Given the description of an element on the screen output the (x, y) to click on. 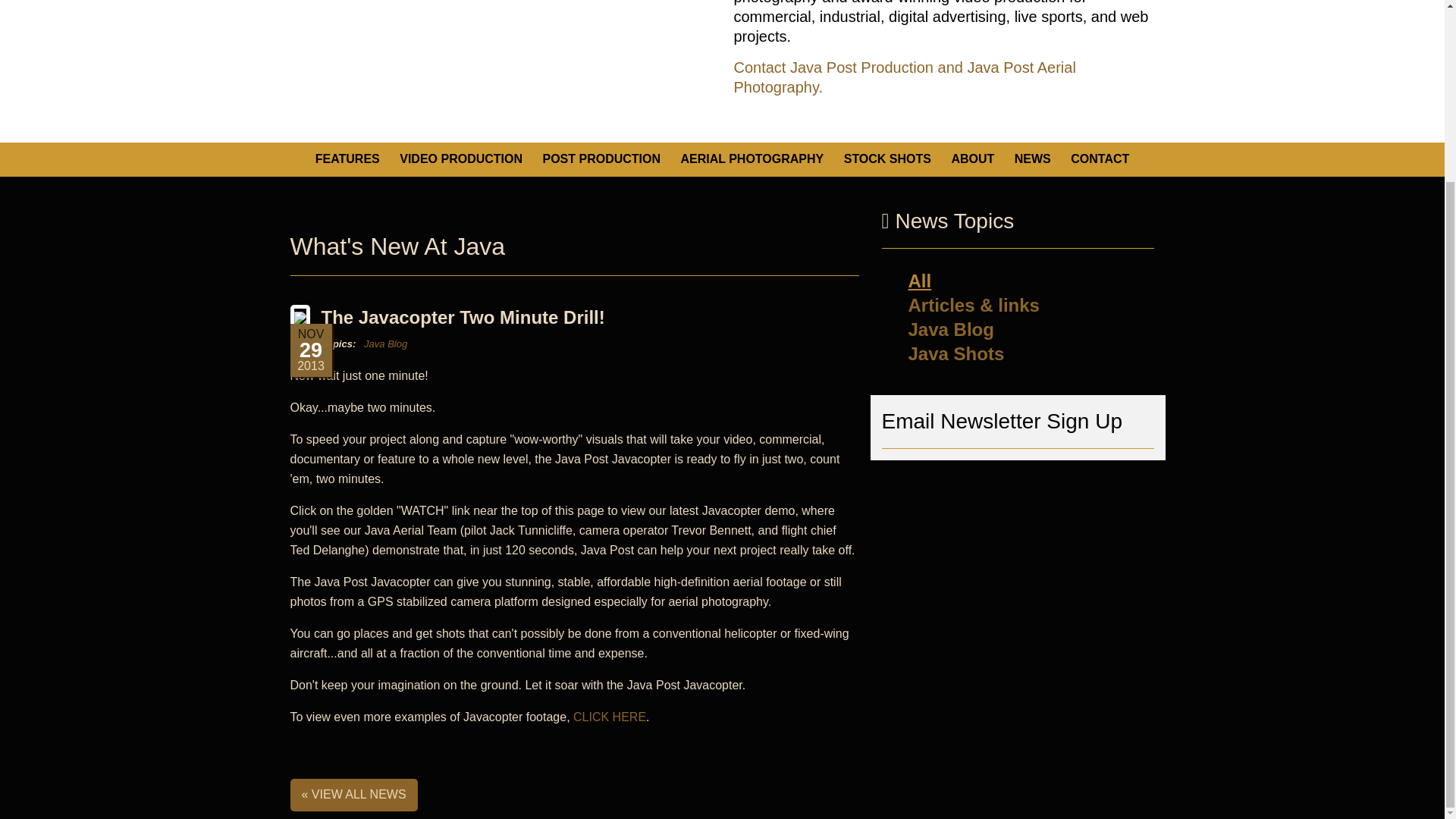
NEWS (1032, 158)
AERIAL PHOTOGRAPHY (752, 158)
VIDEO PRODUCTION (460, 158)
ABOUT (972, 158)
FEATURES (347, 158)
POST PRODUCTION (600, 158)
CONTACT (1099, 158)
STOCK SHOTS (887, 158)
